Given the description of an element on the screen output the (x, y) to click on. 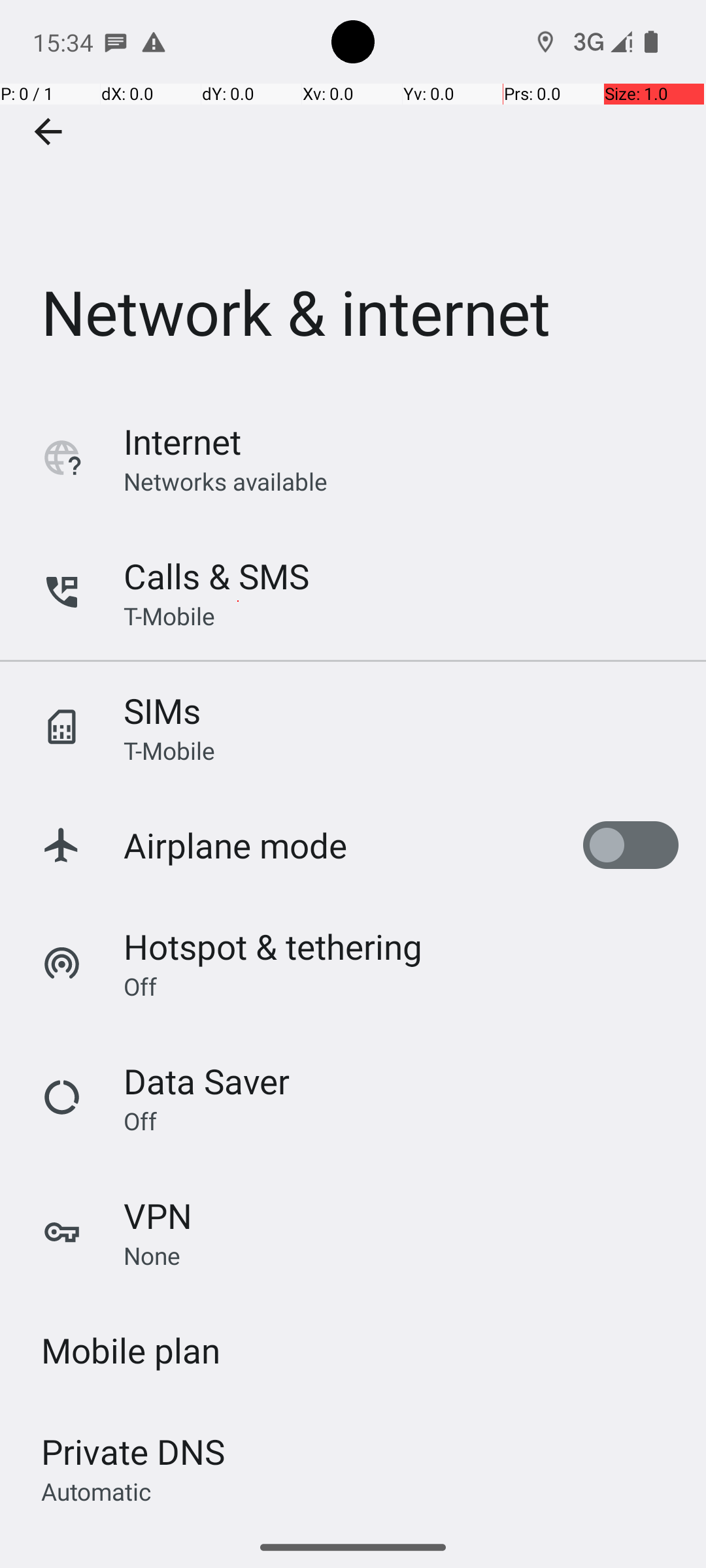
Internet Element type: android.widget.TextView (182, 441)
Networks available Element type: android.widget.TextView (225, 480)
Calls & SMS Element type: android.widget.TextView (216, 575)
T-Mobile Element type: android.widget.TextView (169, 615)
SIMs Element type: android.widget.TextView (161, 710)
Airplane mode Element type: android.widget.TextView (235, 844)
Hotspot & tethering Element type: android.widget.TextView (272, 946)
Data Saver Element type: android.widget.TextView (206, 1080)
VPN Element type: android.widget.TextView (157, 1215)
Mobile plan Element type: android.widget.TextView (130, 1349)
Private DNS Element type: android.widget.TextView (132, 1451)
Automatic Element type: android.widget.TextView (96, 1490)
